Given the description of an element on the screen output the (x, y) to click on. 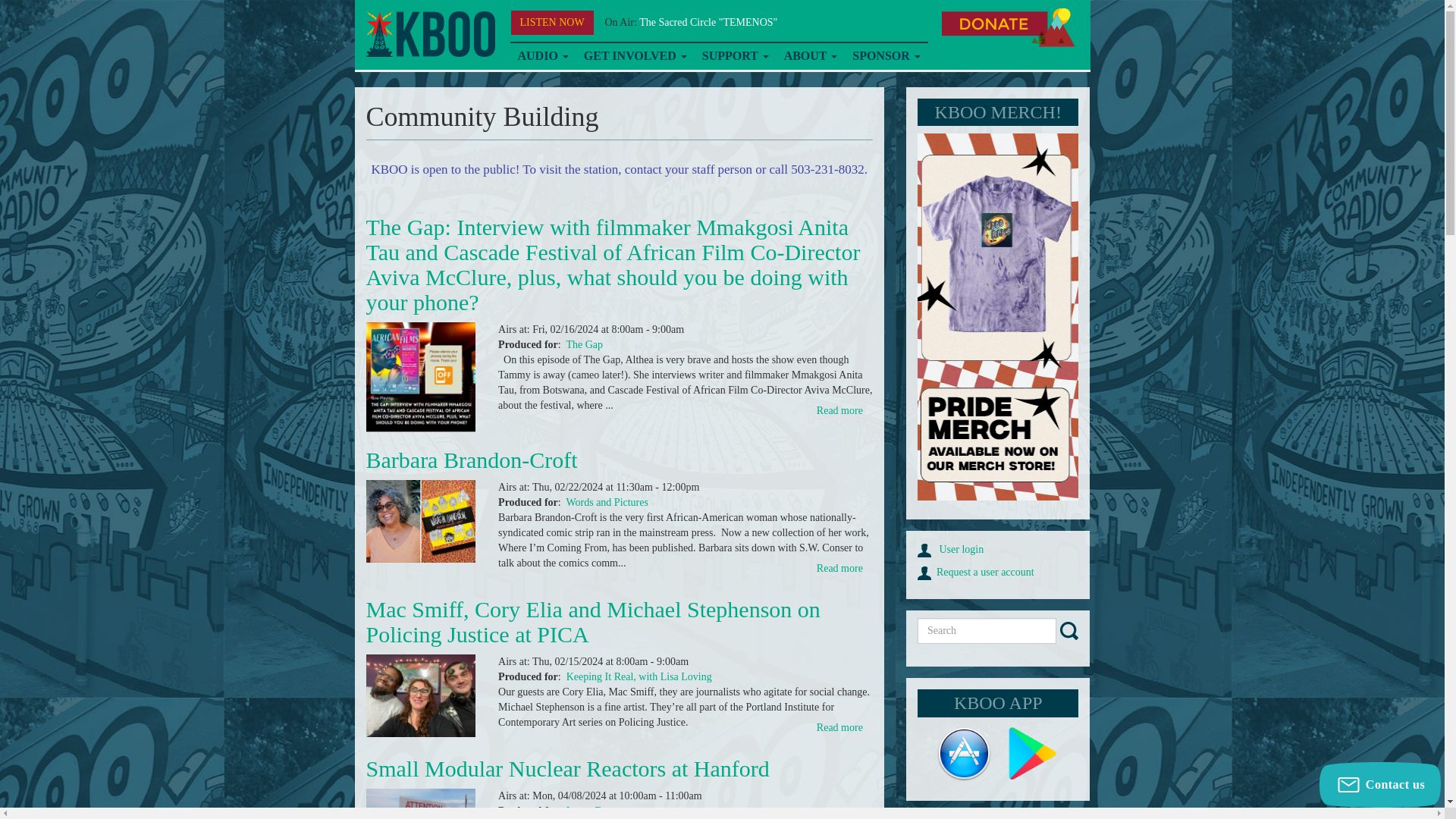
SUPPORT (735, 55)
Home (430, 34)
ABOUT (810, 55)
The Sacred Circle "TEMENOS" (708, 21)
GET INVOLVED (635, 55)
AUDIO (542, 55)
LISTEN NOW (551, 22)
